Given the description of an element on the screen output the (x, y) to click on. 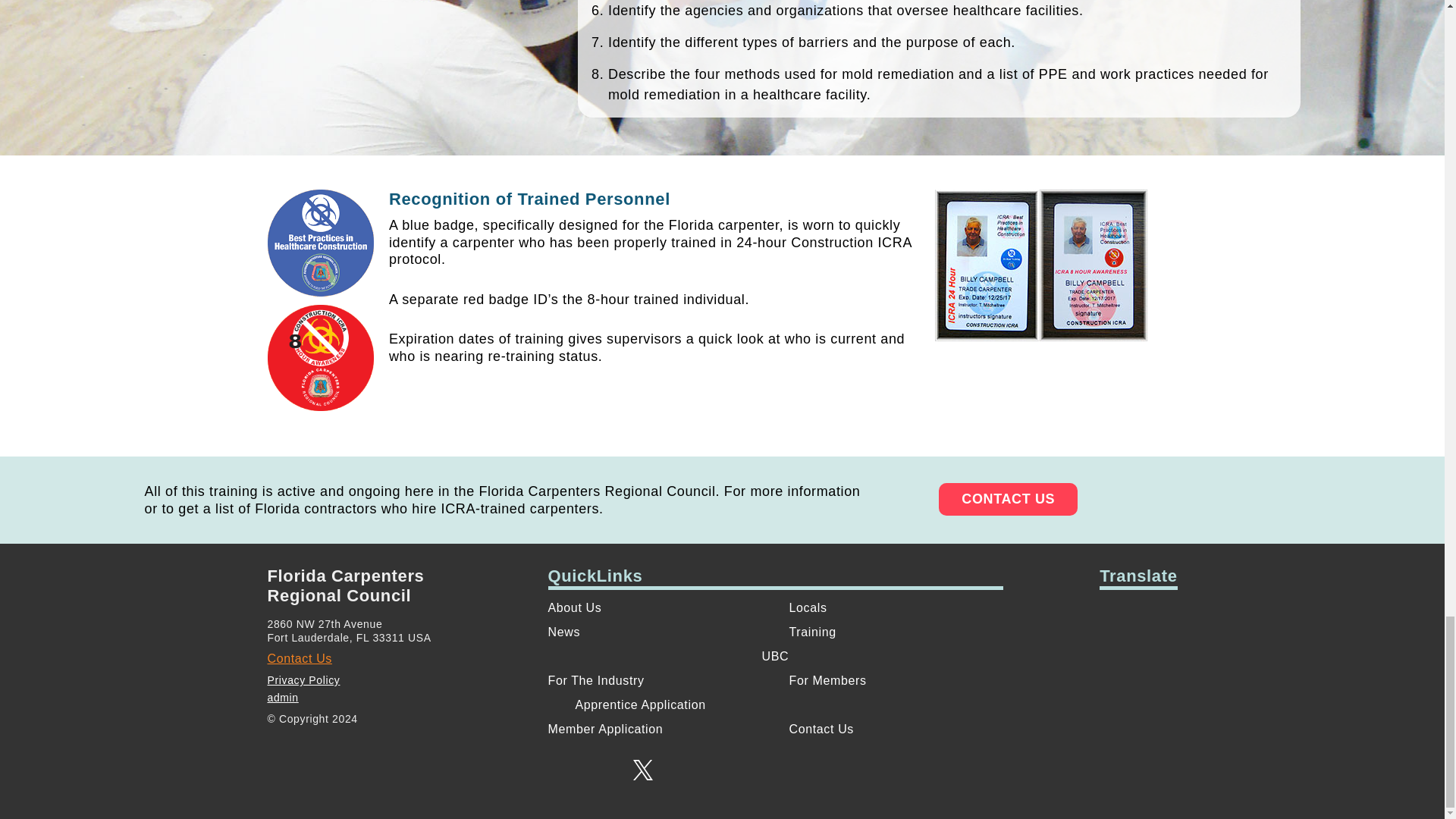
ICRA Badge (1040, 265)
ICRA (319, 243)
ICRA (319, 357)
